Given the description of an element on the screen output the (x, y) to click on. 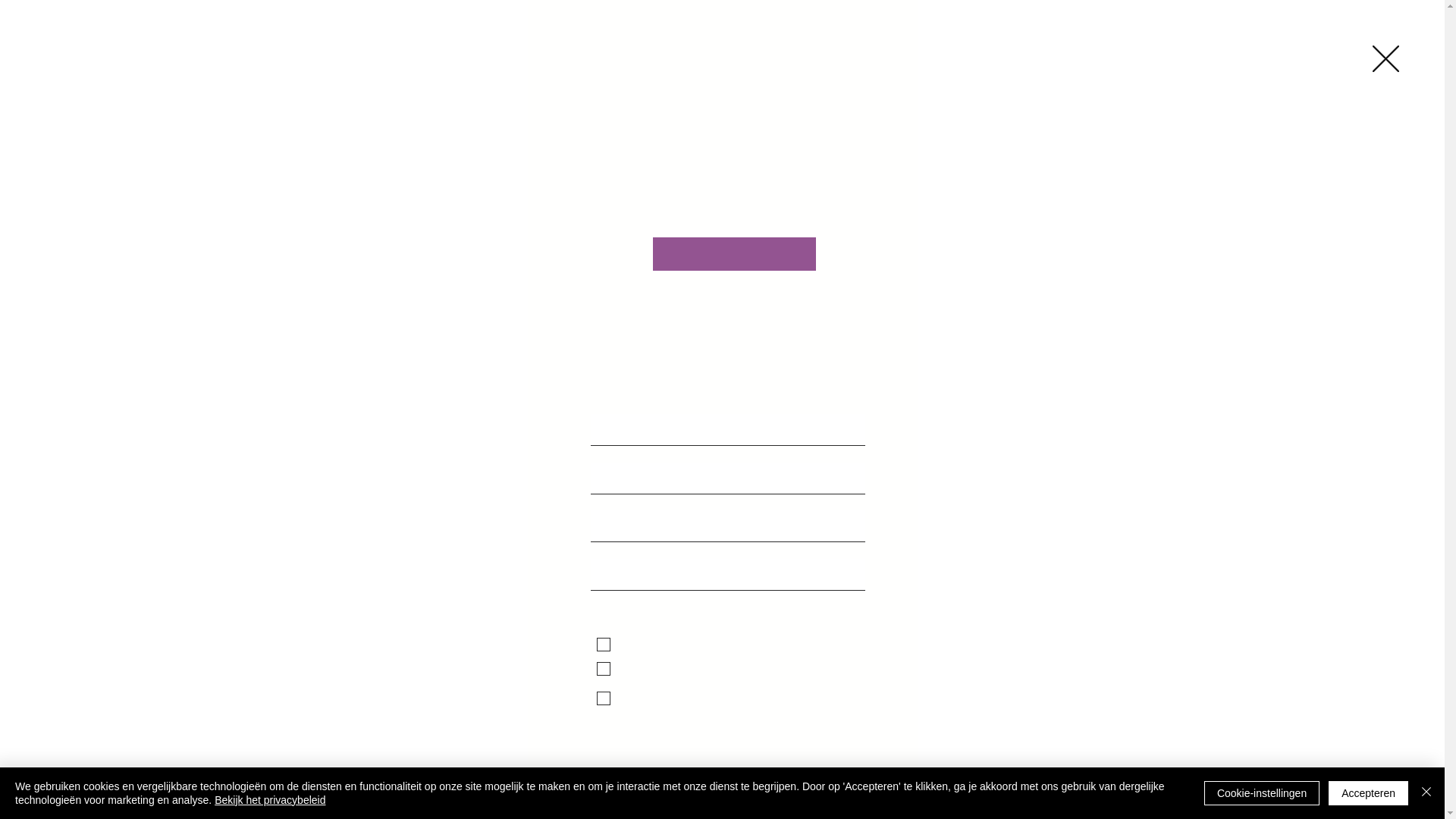
Terug naar de website Element type: hover (1385, 58)
